Given the description of an element on the screen output the (x, y) to click on. 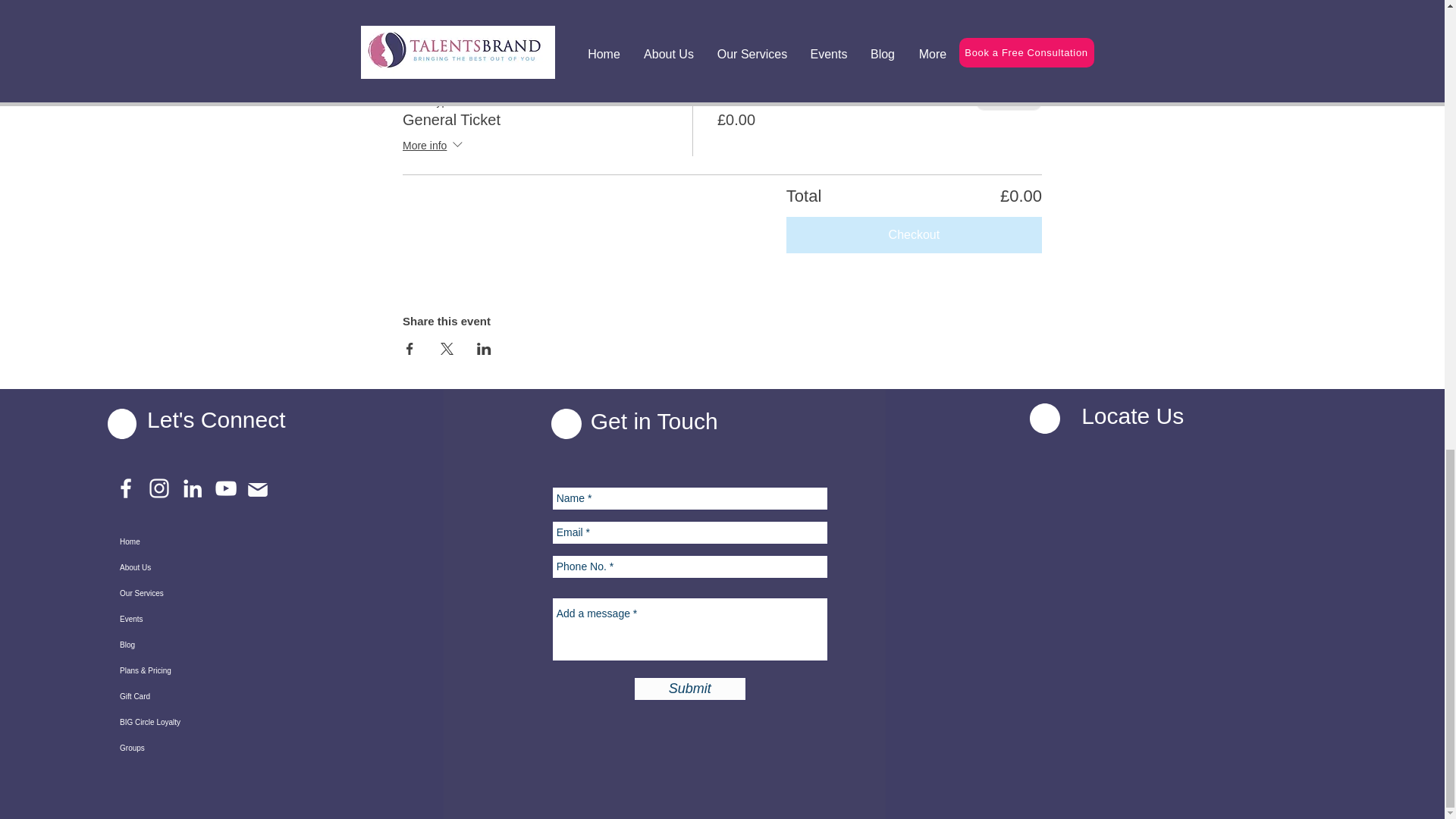
Checkout (914, 235)
More info (434, 146)
Home (192, 542)
About Us (192, 567)
